Given the description of an element on the screen output the (x, y) to click on. 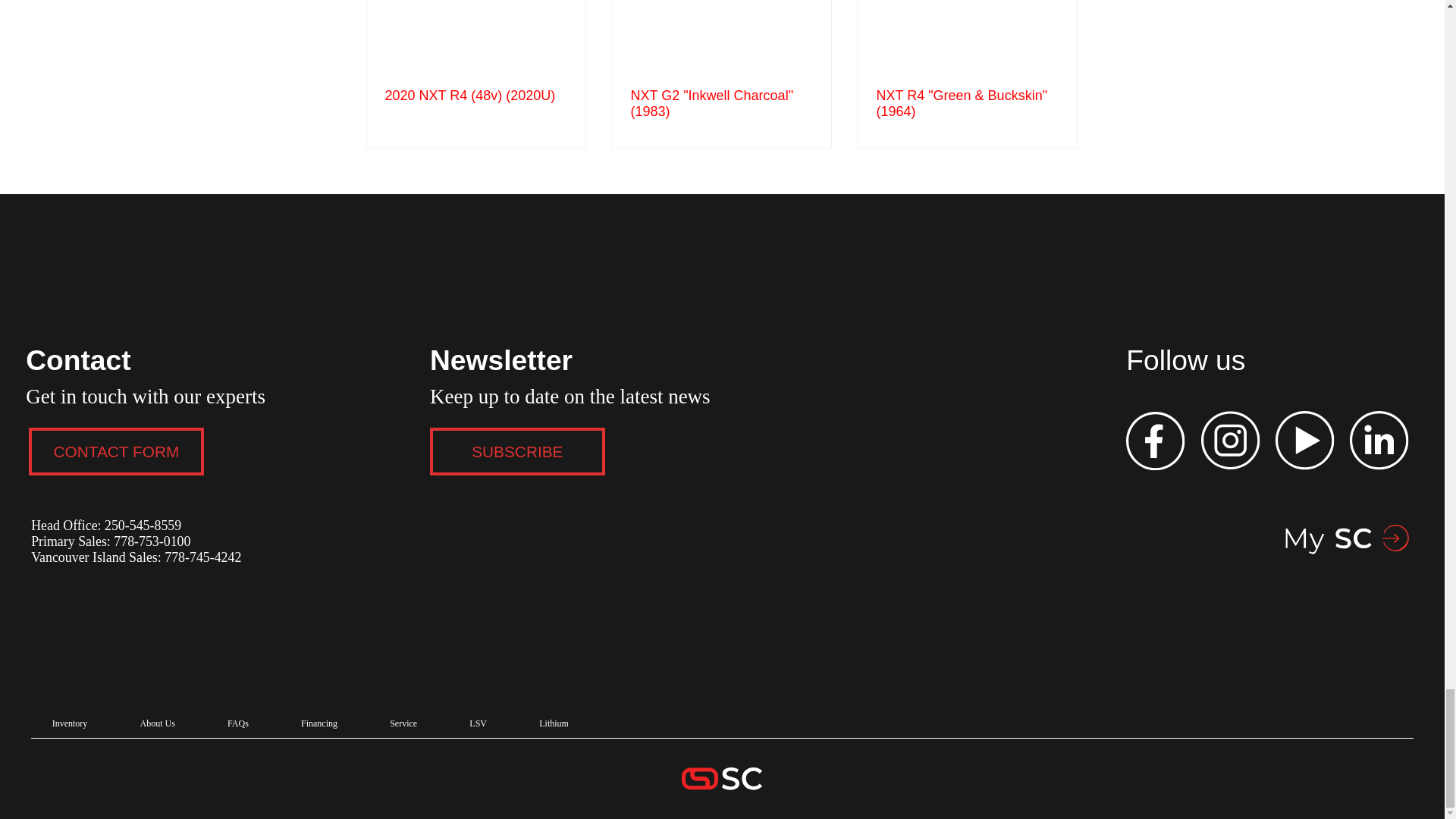
FAQs (236, 723)
Lithium (554, 723)
250-545-8559 (142, 525)
778-745-4242 (202, 557)
778-753-0100 (150, 540)
SUBSCRIBE (517, 451)
LSV (478, 723)
CONTACT FORM (116, 451)
Financing (318, 723)
About Us (157, 723)
